Given the description of an element on the screen output the (x, y) to click on. 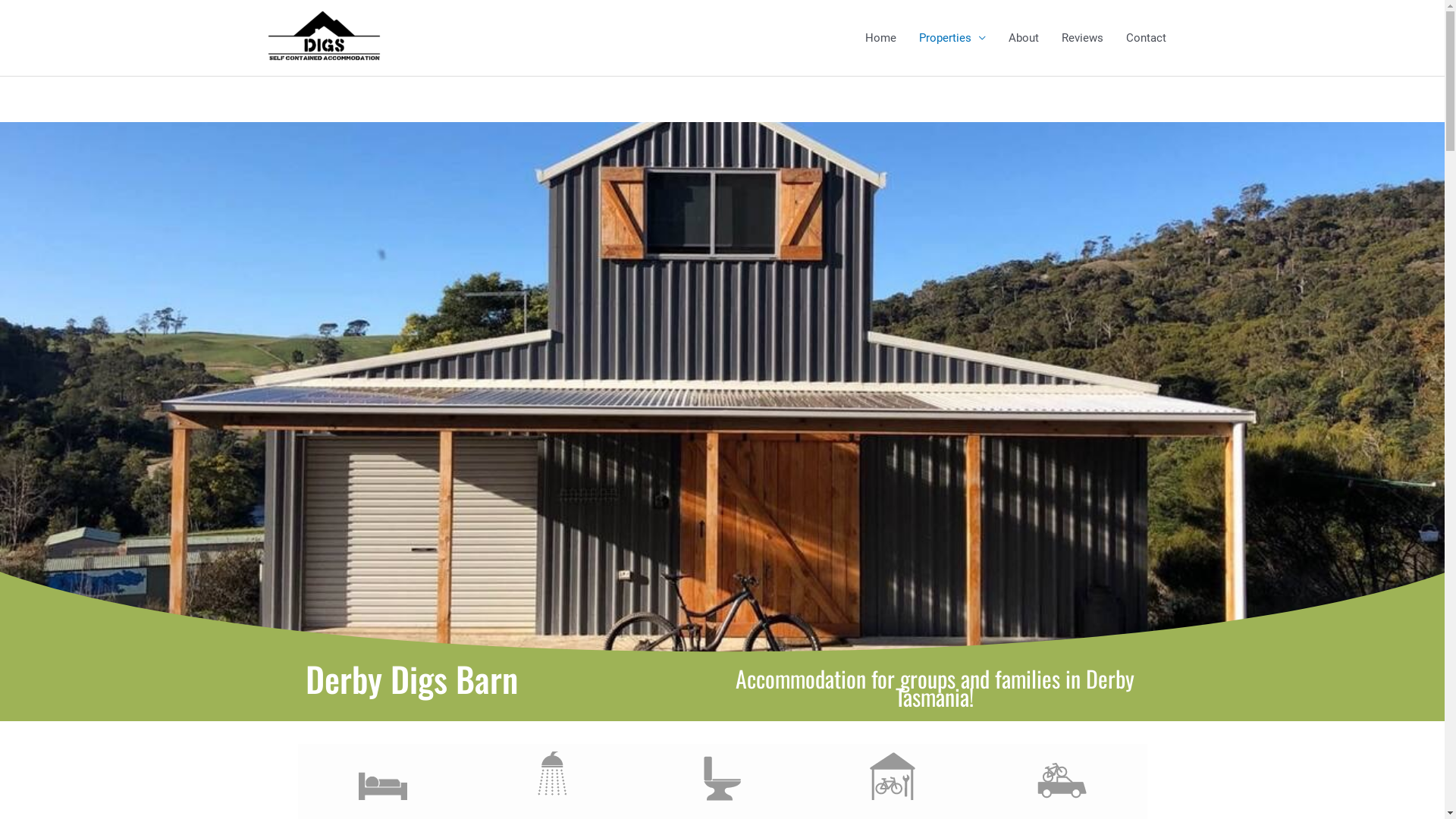
Reviews Element type: text (1081, 37)
Properties Element type: text (951, 37)
Home Element type: text (880, 37)
Contact Element type: text (1145, 37)
About Element type: text (1022, 37)
